Given the description of an element on the screen output the (x, y) to click on. 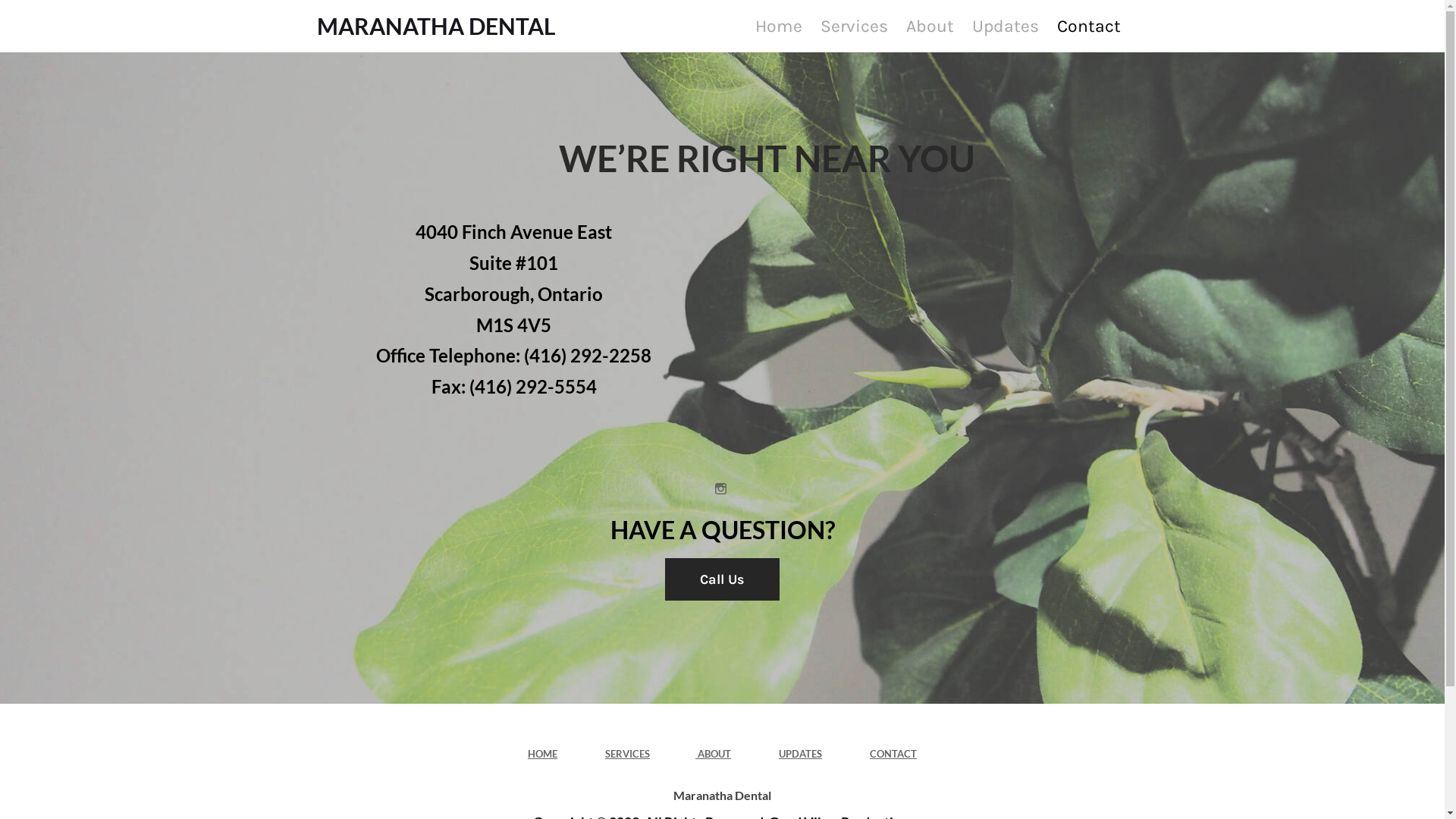
SERVICES Element type: text (627, 753)
UPDATES Element type: text (800, 753)
About Element type: text (929, 25)
Contact Element type: text (1087, 25)
Services Element type: text (853, 25)
CONTACT Element type: text (892, 753)
Home Element type: text (777, 25)
ABOUT Element type: text (713, 753)
Updates Element type: text (1004, 25)
Call Us Element type: text (722, 579)
HOME Element type: text (542, 753)
MARANATHA DENTAL Element type: text (435, 25)
